Given the description of an element on the screen output the (x, y) to click on. 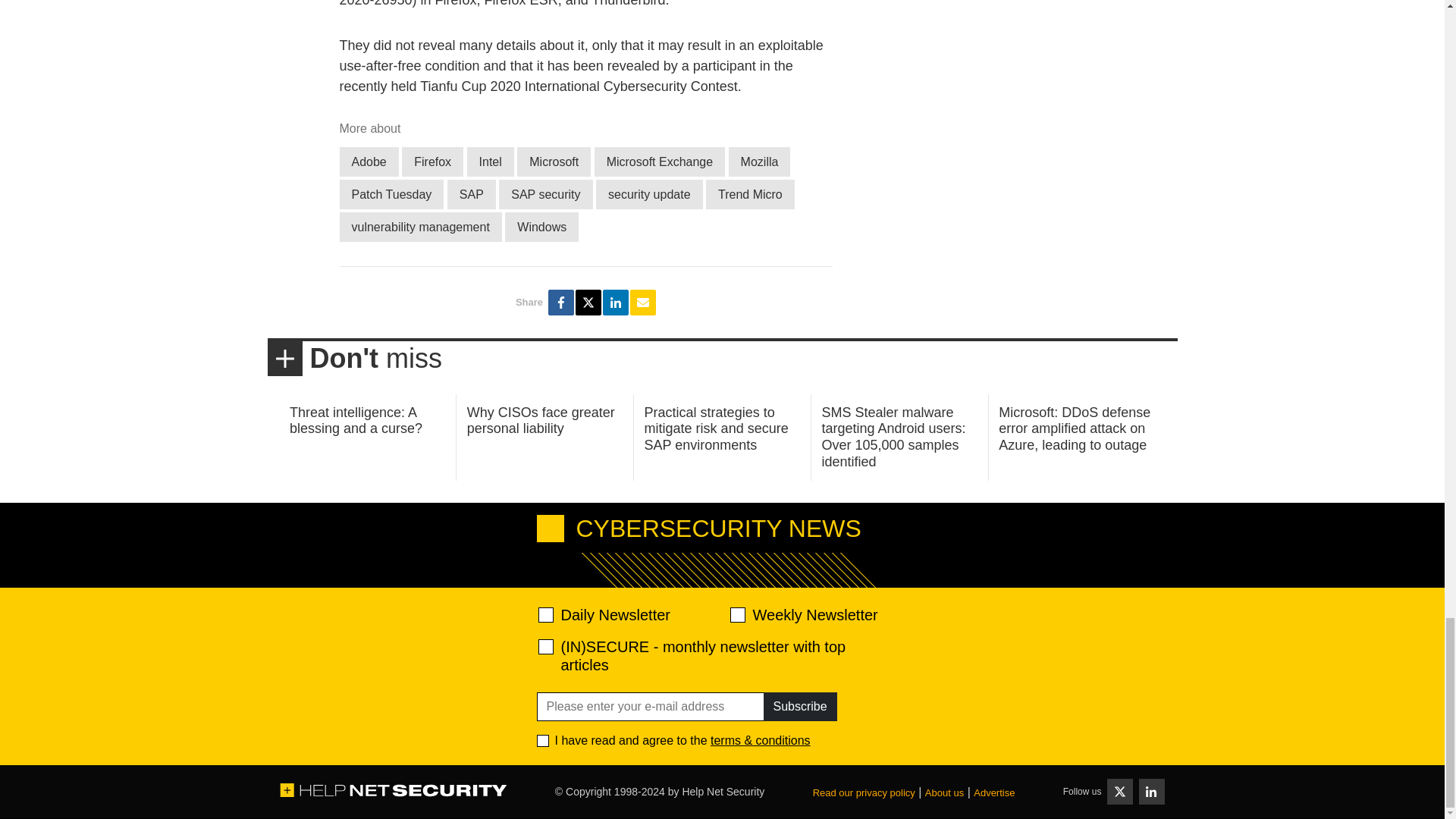
520ac2f639 (545, 614)
d2d471aafa (736, 614)
SAP (471, 194)
Intel (490, 161)
Intel (490, 161)
Microsoft Exchange (659, 161)
Mozilla (759, 161)
Firefox (432, 161)
28abe5d9ef (545, 646)
Firefox (432, 161)
Microsoft (553, 161)
1 (542, 740)
Patch Tuesday (391, 194)
Adobe (368, 161)
Adobe (368, 161)
